Given the description of an element on the screen output the (x, y) to click on. 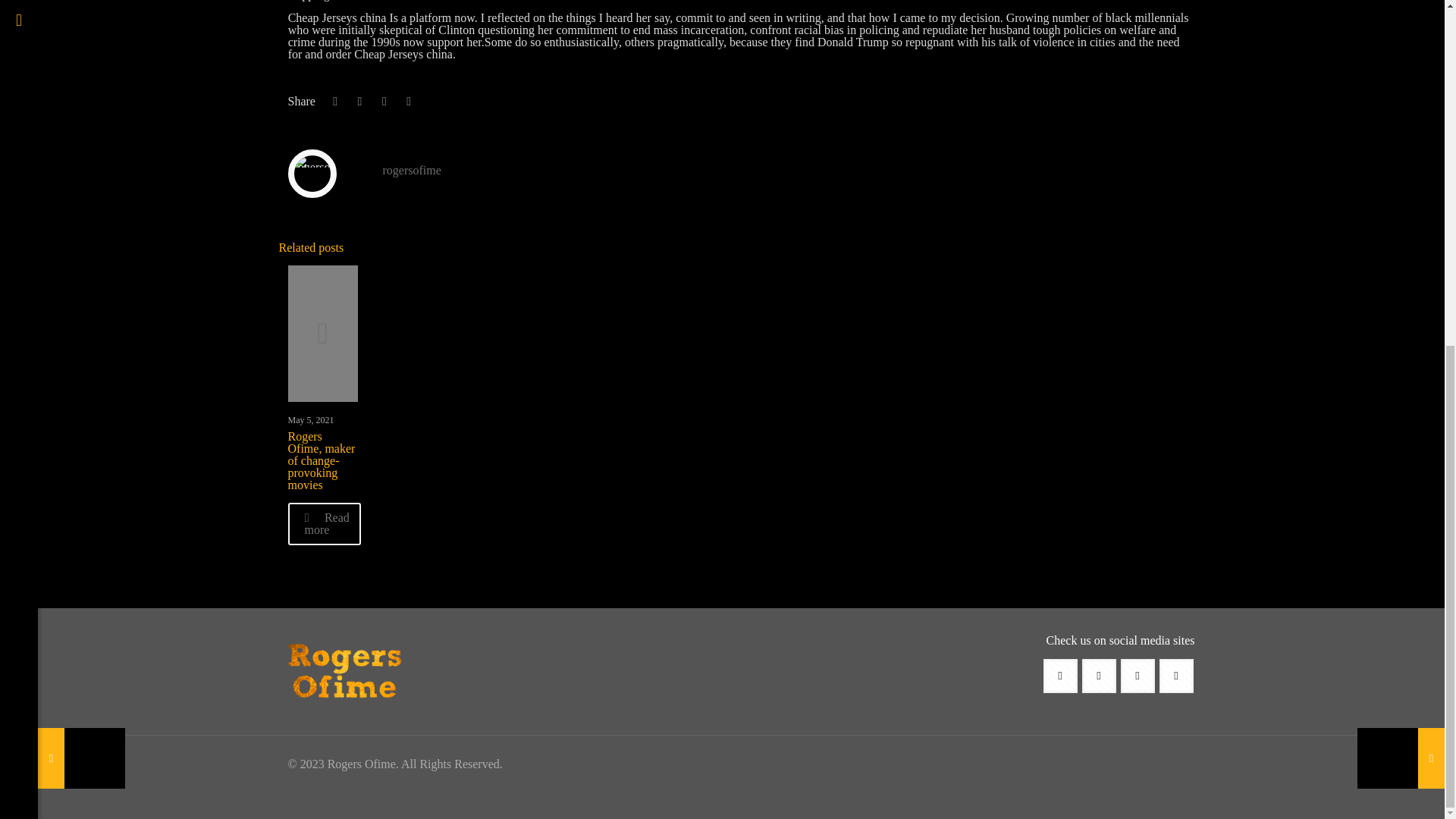
rogersofime (411, 169)
